Given the description of an element on the screen output the (x, y) to click on. 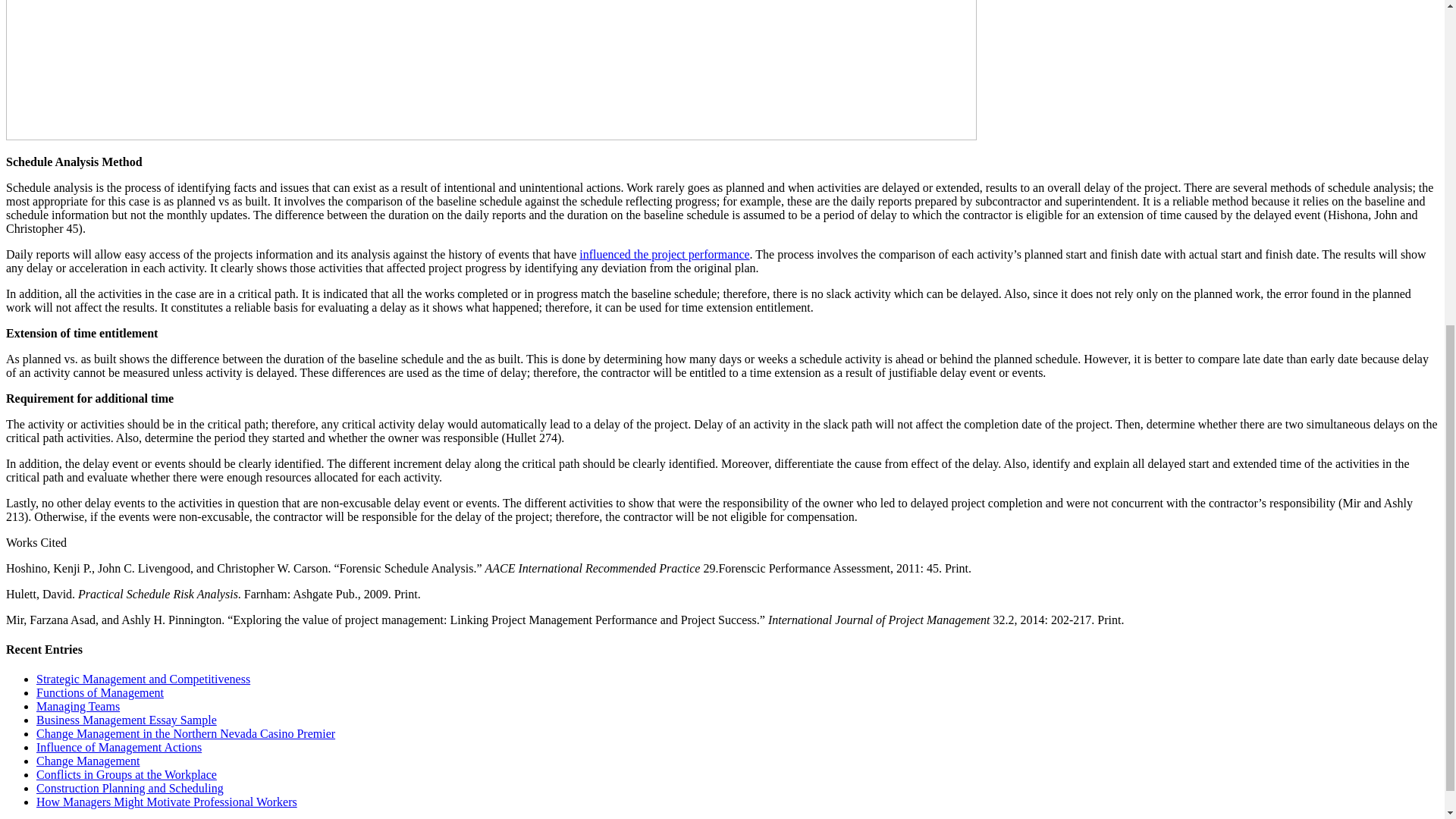
Business Management Essay Sample (126, 719)
Strategic Management and Competitiveness (143, 678)
influenced the project performance (664, 254)
Construction Planning and Scheduling (130, 788)
Business Management Essay Sample (126, 719)
How Managers Might Motivate Professional Workers (166, 801)
Change Management in the Northern Nevada Casino Premier (185, 733)
Influence of Management Actions (119, 747)
Functions of Management (99, 692)
Managing Teams (77, 706)
